Given the description of an element on the screen output the (x, y) to click on. 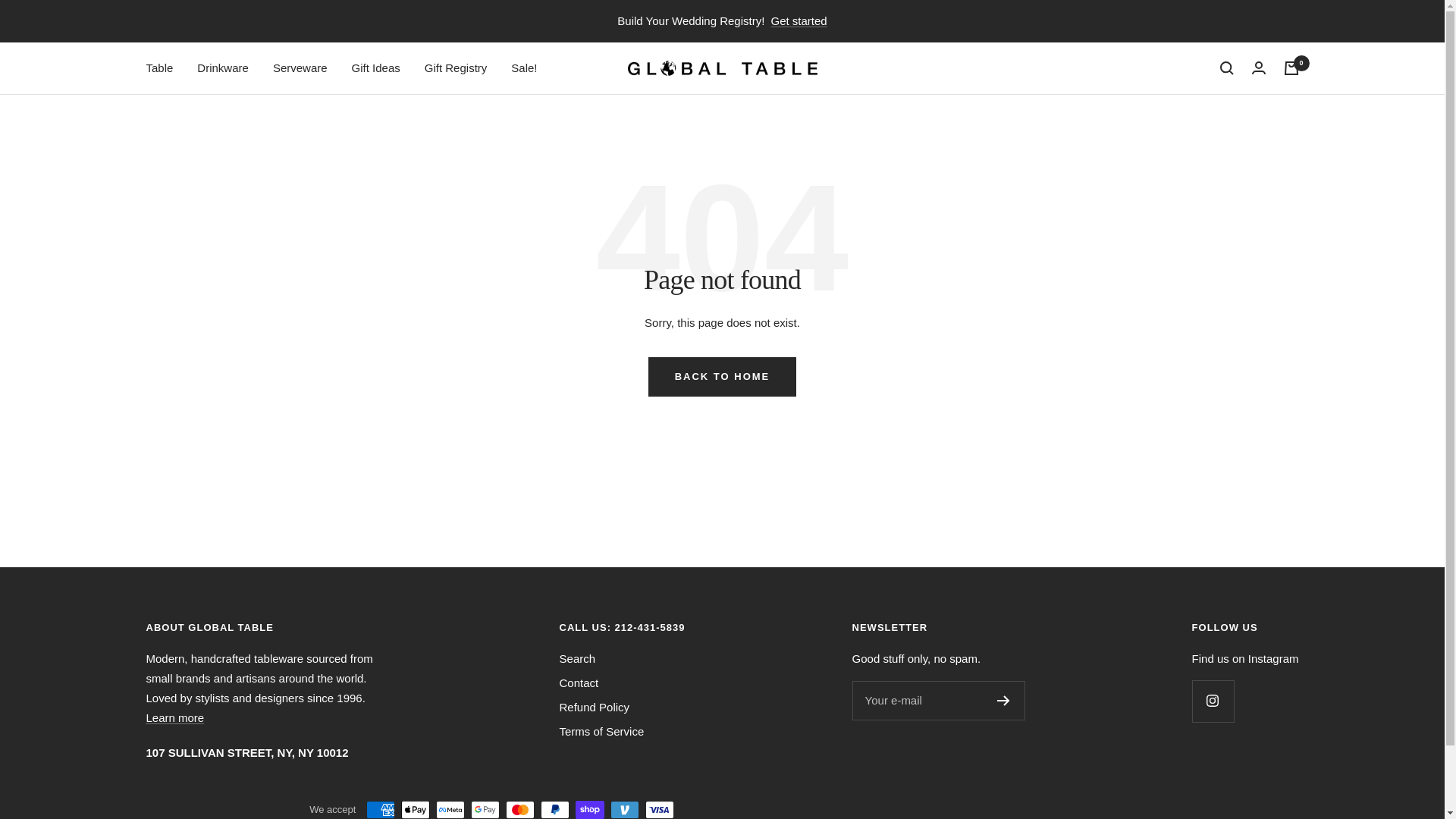
Contact (578, 682)
Sale! (524, 67)
107 SULLIVAN STREET, NEW YORK, NY 10012 (246, 752)
Register (1003, 700)
Serveware (300, 67)
0 (1290, 68)
About Global Table (174, 717)
Learn more (174, 717)
Refund Policy (594, 707)
